Given the description of an element on the screen output the (x, y) to click on. 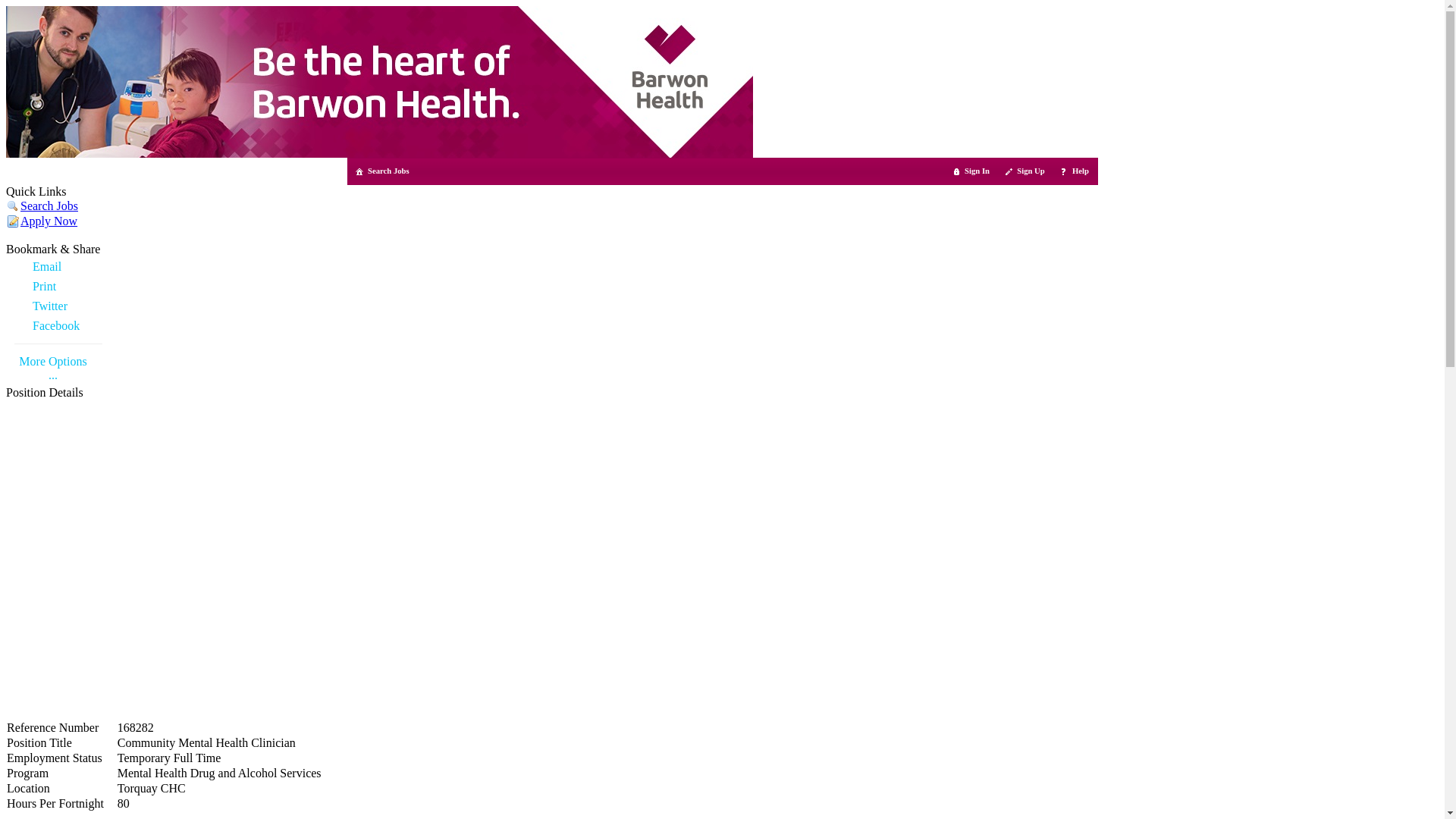
Help Element type: text (1074, 171)
More Options ... Element type: text (52, 368)
Email Element type: text (57, 266)
Print Element type: text (57, 286)
Sign Up Element type: text (1025, 171)
Search Jobs Element type: text (382, 171)
Search Jobs Element type: text (49, 205)
Sign In Element type: text (971, 171)
Twitter Element type: text (57, 306)
Facebook Element type: text (57, 325)
Apply Now Element type: text (48, 220)
